Given the description of an element on the screen output the (x, y) to click on. 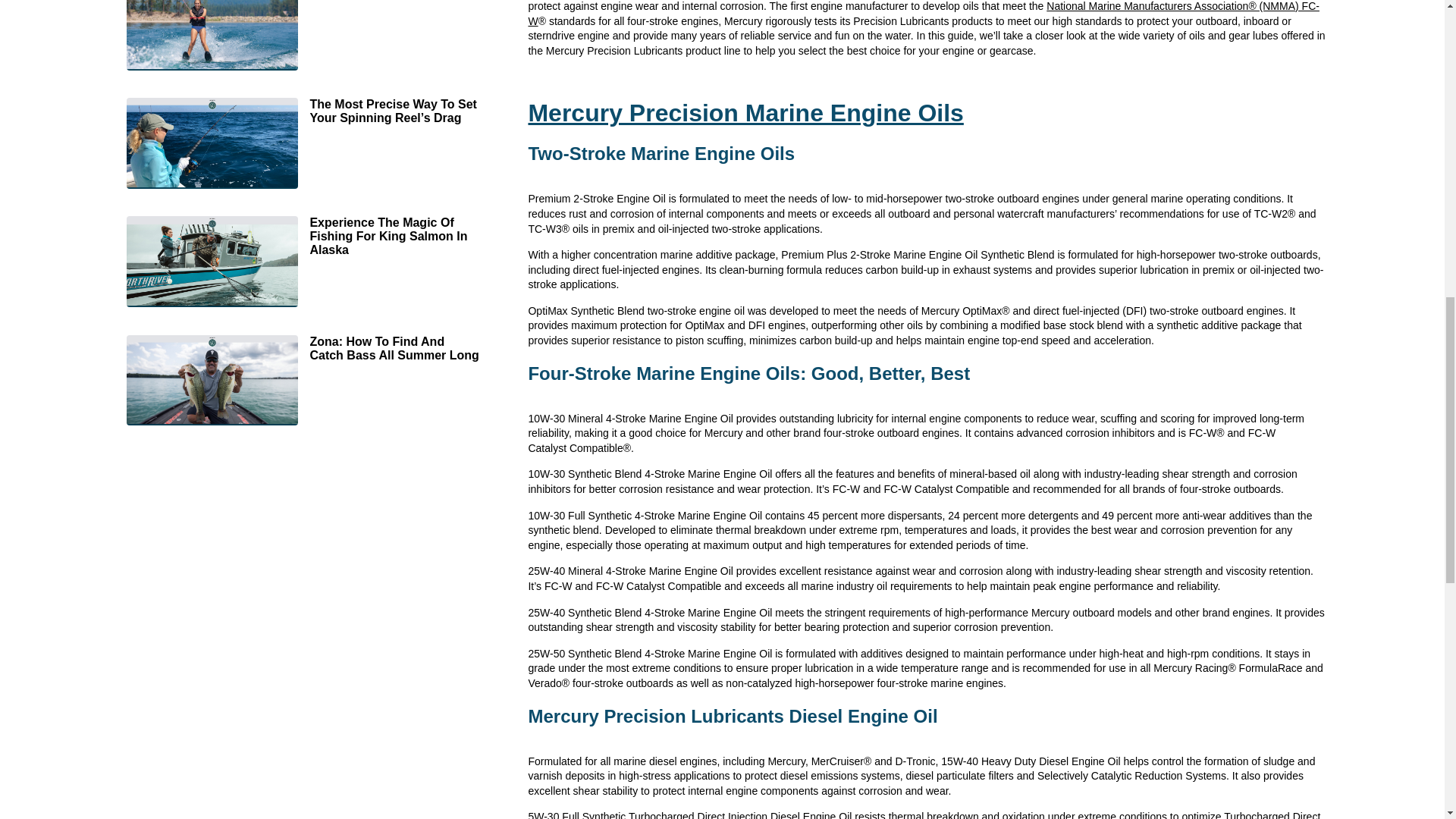
Experience the Magic of Fishing for King Salmon in Alaska (309, 263)
Zona: How to Find and Catch Bass All Summer Long (309, 381)
